Given the description of an element on the screen output the (x, y) to click on. 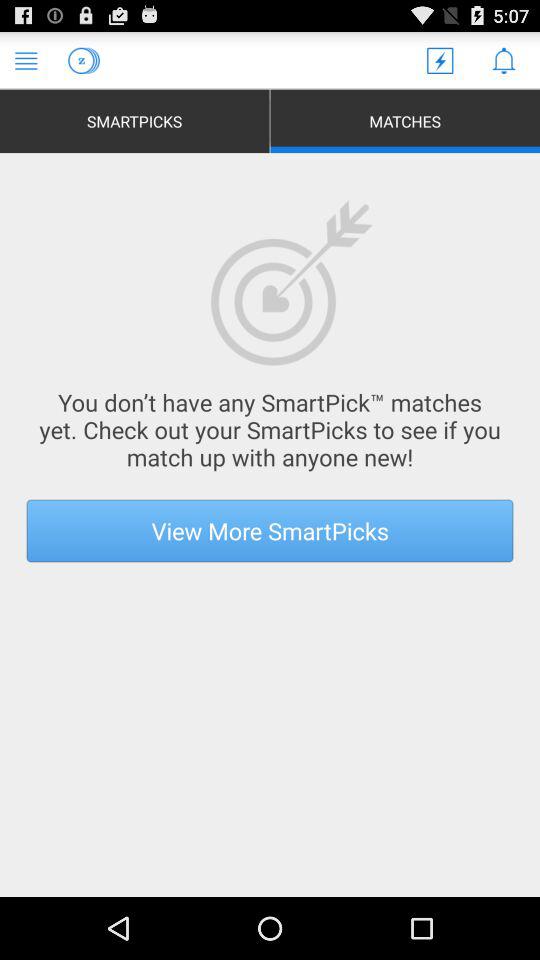
set alert (503, 59)
